Given the description of an element on the screen output the (x, y) to click on. 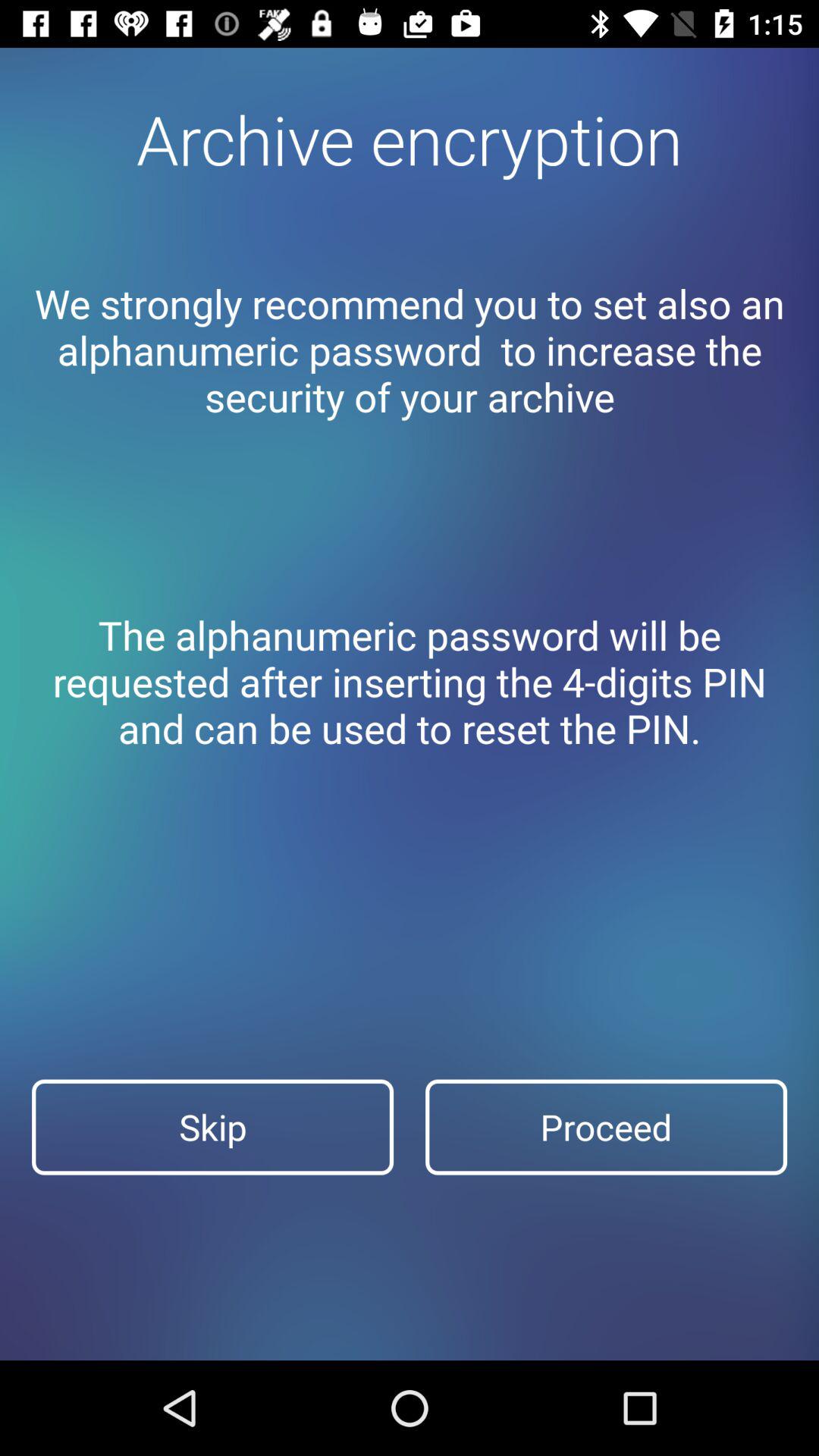
click the icon next to proceed item (212, 1127)
